Given the description of an element on the screen output the (x, y) to click on. 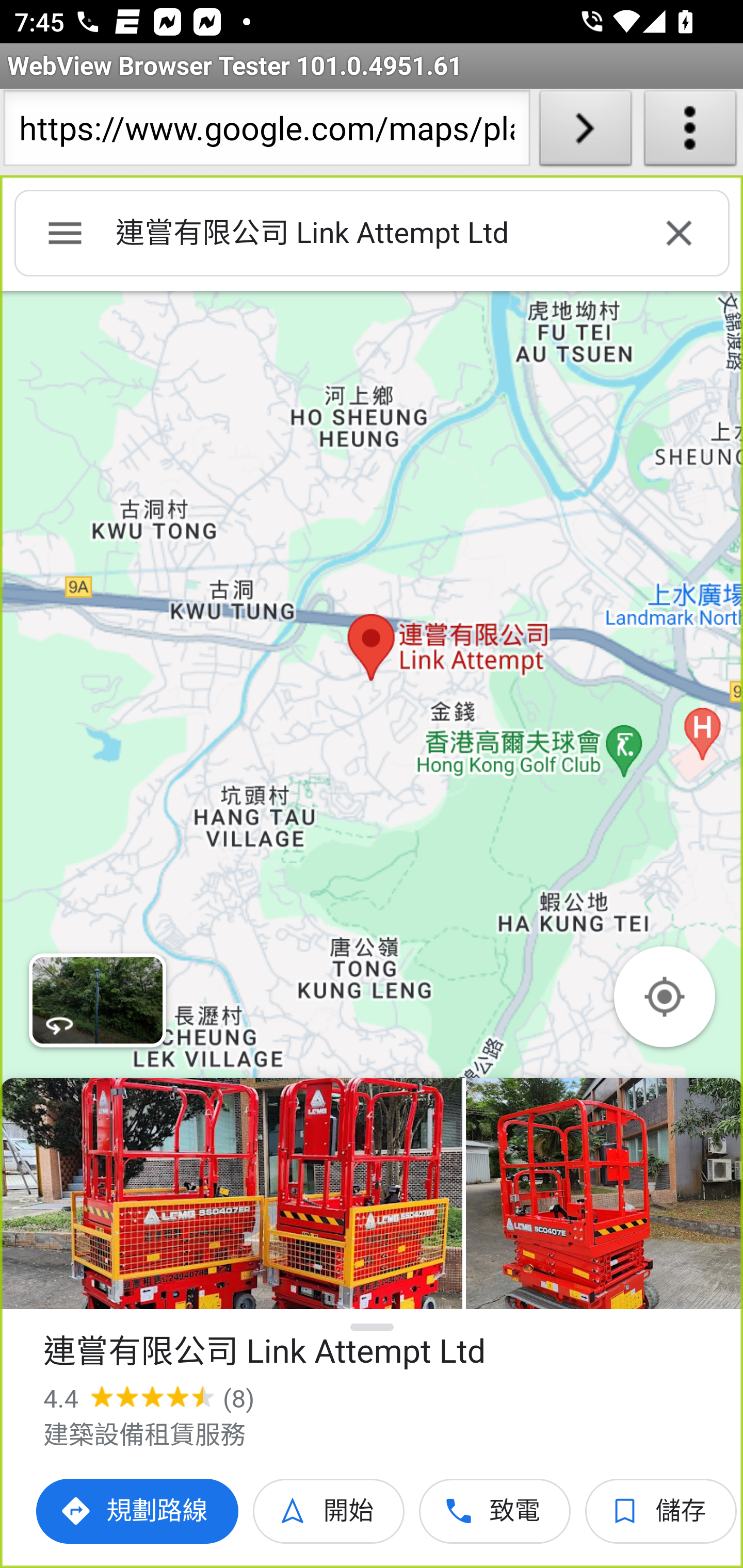
Load URL (585, 132)
About WebView (690, 132)
第 1 張相片 (共 9 張) (231, 1193)
第 2 張相片 (共 9 張) (604, 1193)
顯示詳細資料 (372, 1327)
前往連嘗有限公司 Link Attempt Ltd的路線 (137, 1511)
開始 (329, 1511)
致電「連嘗有限公司 Link Attempt Ltd」  致電 (495, 1511)
將「連嘗有限公司 Link Attempt Ltd」儲存至清單中 (661, 1511)
